Given the description of an element on the screen output the (x, y) to click on. 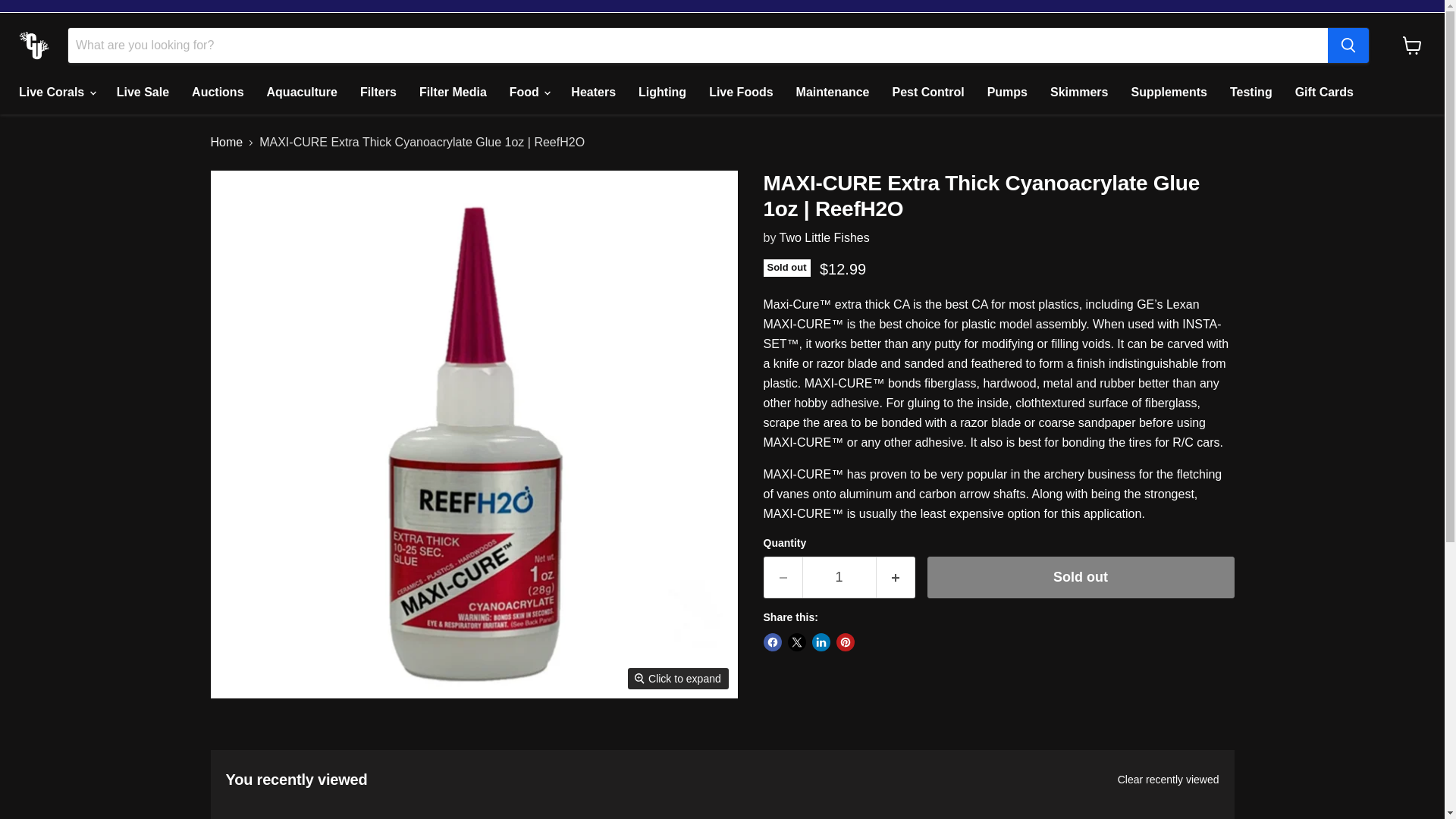
Gift Cards (1324, 92)
Auctions (217, 92)
Heaters (593, 92)
Live Foods (740, 92)
Maintenance (832, 92)
View cart (1411, 45)
Filter Media (452, 92)
Pest Control (927, 92)
Testing (1251, 92)
Lighting (662, 92)
